Given the description of an element on the screen output the (x, y) to click on. 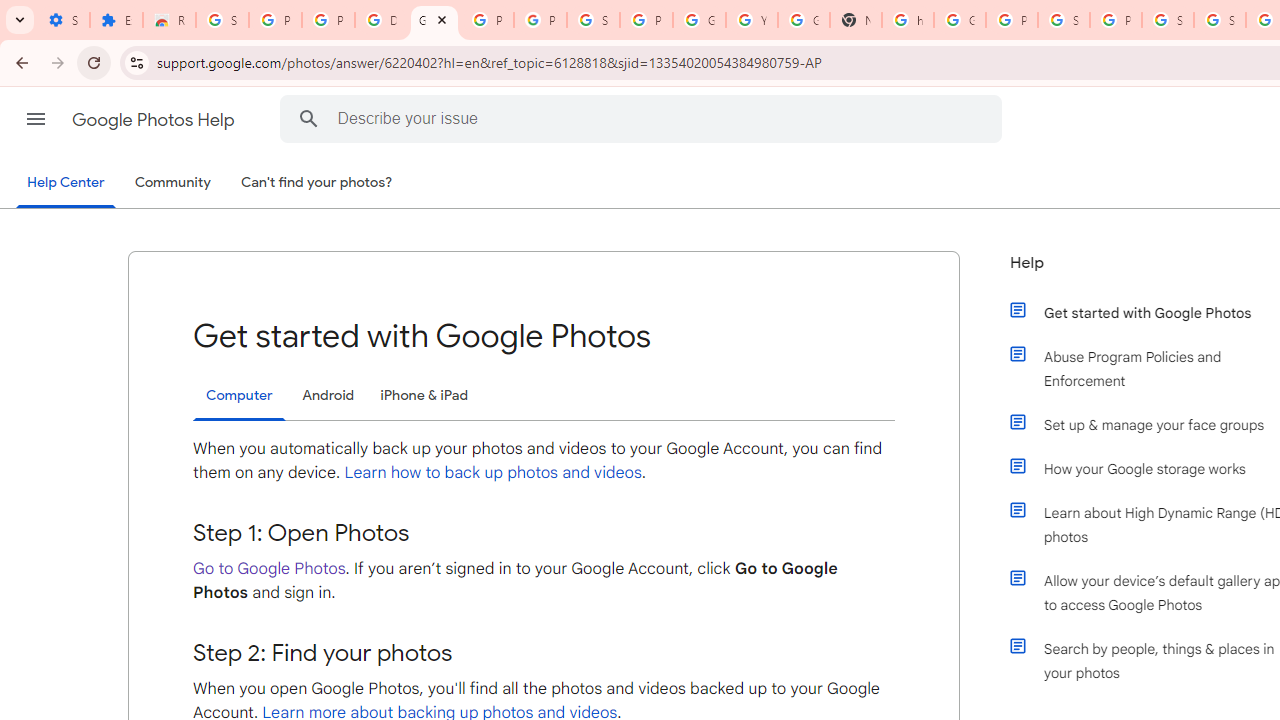
Computer (239, 396)
Go to Google Photos (269, 568)
Sign in - Google Accounts (1219, 20)
Main menu (35, 119)
Describe your issue (644, 118)
Reviews: Helix Fruit Jump Arcade Game (169, 20)
Extensions (116, 20)
